Given the description of an element on the screen output the (x, y) to click on. 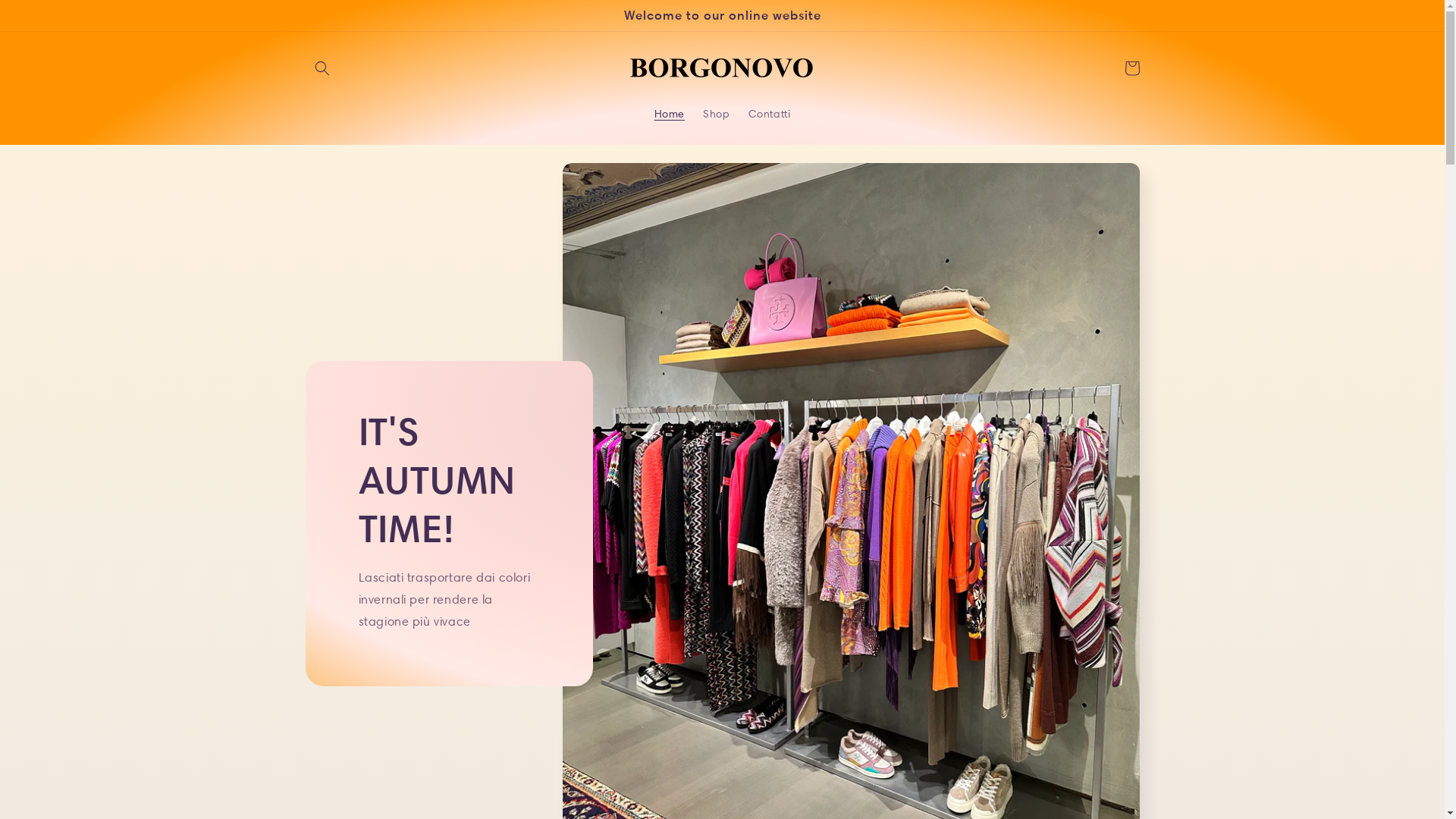
Contatti Element type: text (768, 113)
Home Element type: text (669, 113)
Carrello Element type: text (1131, 67)
Shop Element type: text (715, 113)
